Given the description of an element on the screen output the (x, y) to click on. 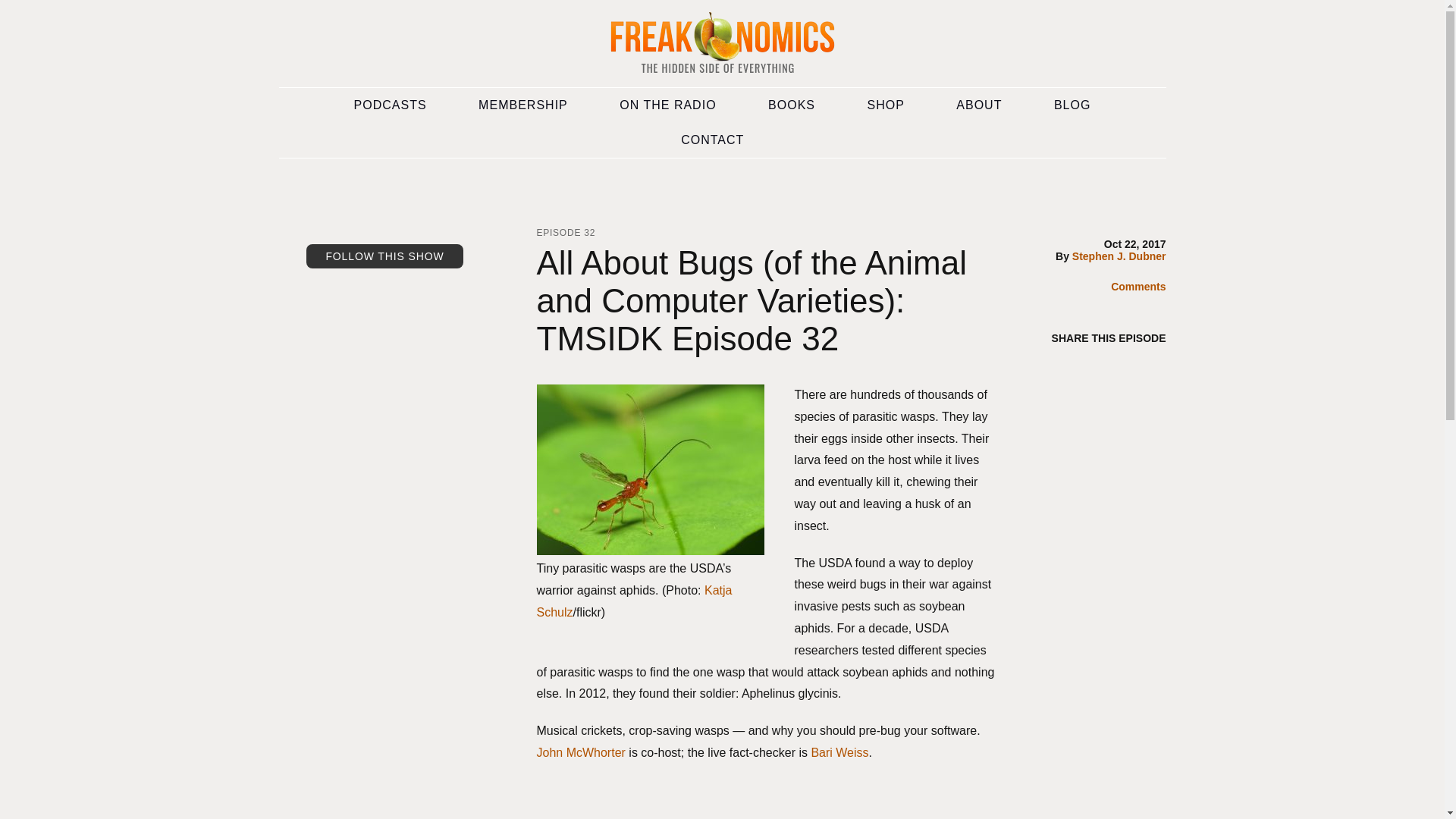
BOOKS (792, 104)
Share on Facebook (1095, 366)
Stephen J. Dubner (1118, 256)
CONTACT (712, 140)
Share via email (1065, 366)
Tweet about this (1125, 366)
Return to homepage (722, 43)
SHOP (885, 104)
PODCASTS (390, 104)
Comments (1126, 287)
